Given the description of an element on the screen output the (x, y) to click on. 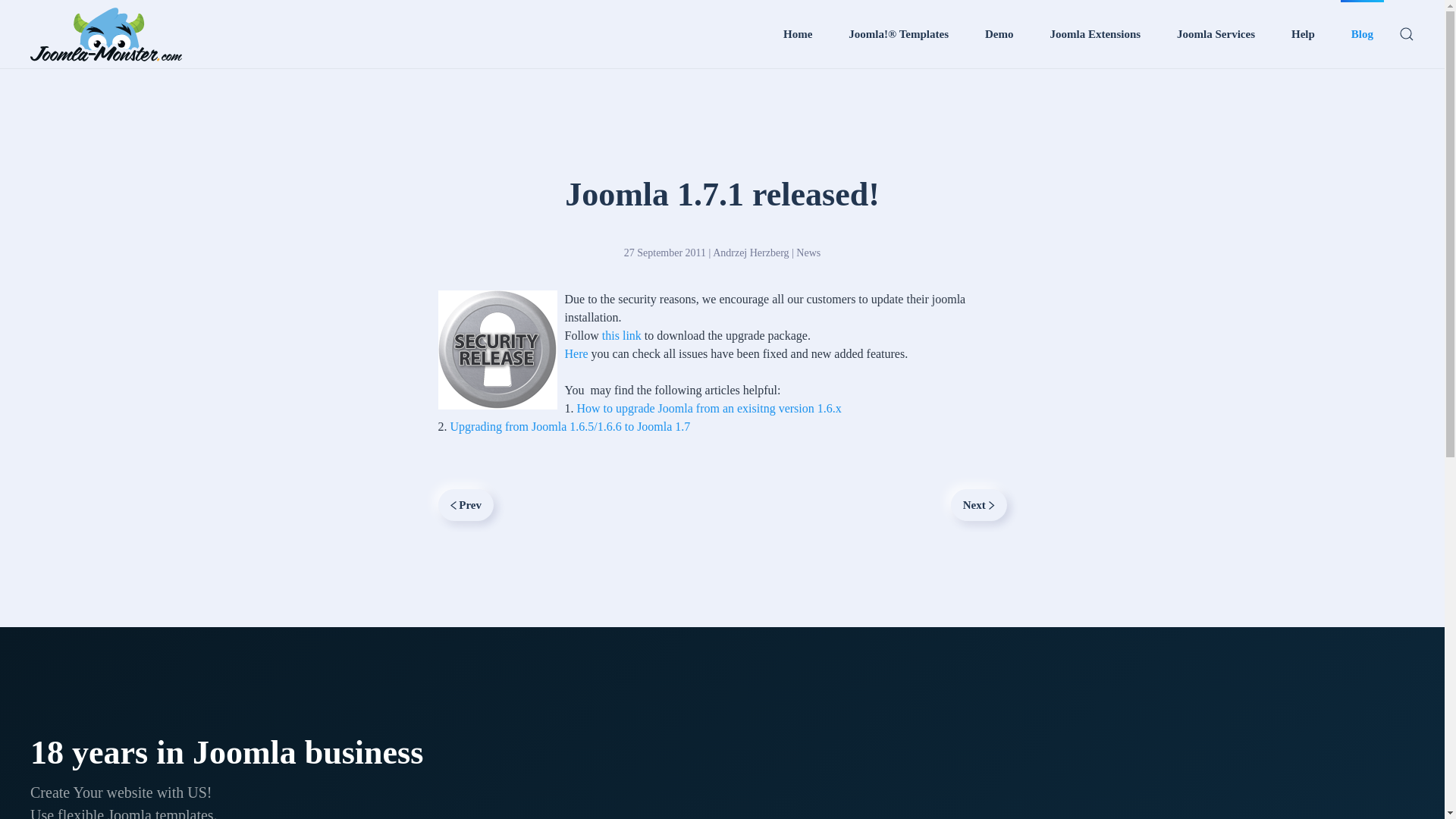
Here (576, 353)
How to upgrade Joomla from an exisitng version 1.6.x (708, 408)
Joomla Services (1215, 33)
joomla 1.7 changelog (576, 353)
How to upgrade Joomla from an exisitng version 1.6.x  (708, 408)
security release (497, 349)
Next (978, 504)
Prev (465, 504)
Joomla 1.7 upgrade (622, 335)
this link (622, 335)
Joomla Extensions (1095, 33)
News (808, 252)
